Given the description of an element on the screen output the (x, y) to click on. 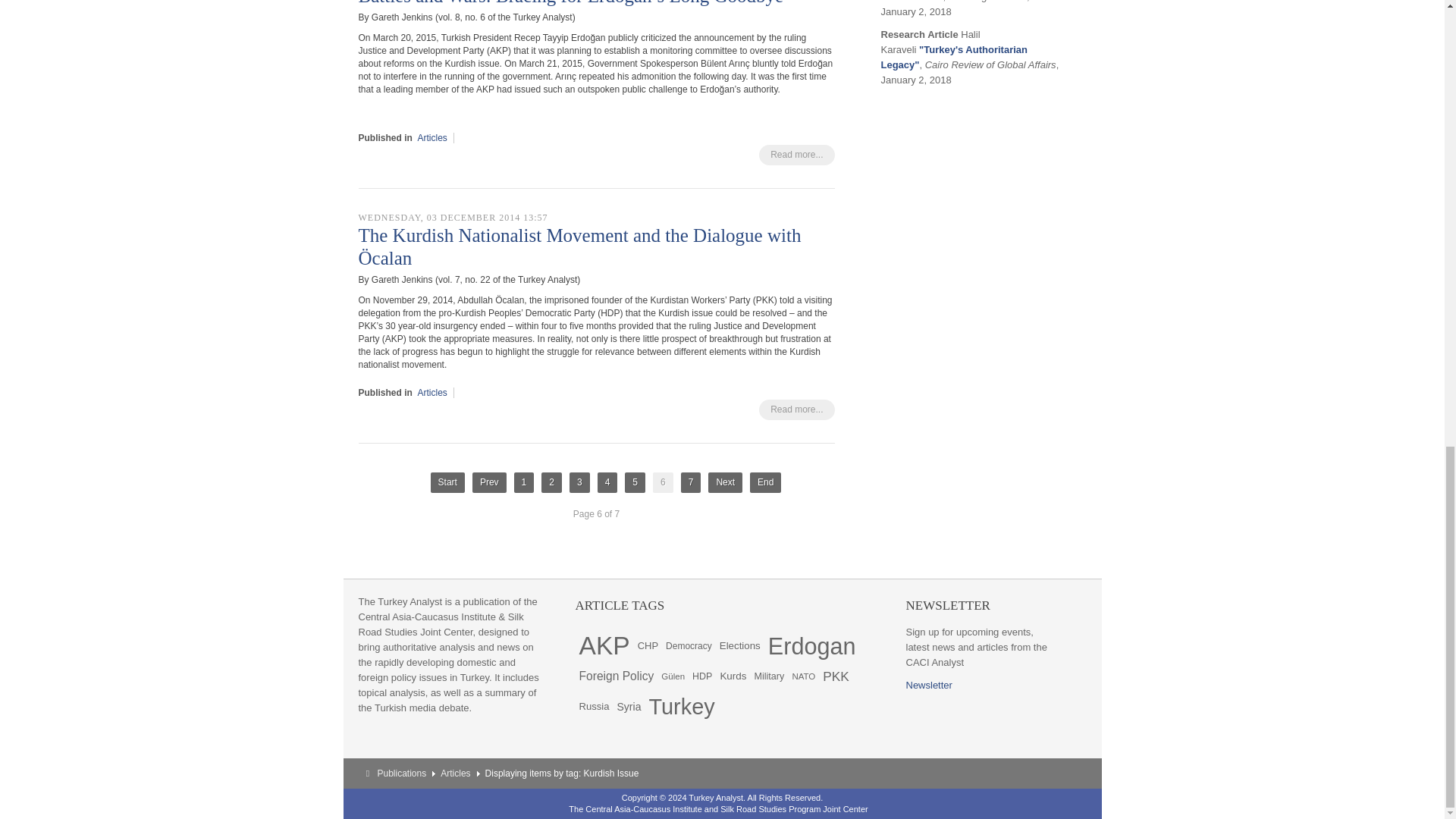
38 items tagged with CHP (647, 645)
Start (447, 482)
3 (579, 482)
31 items tagged with Democracy (689, 645)
Articles (431, 392)
41 items tagged with Elections (740, 645)
Next (724, 482)
4 (606, 482)
Read more... (796, 154)
2 (551, 482)
